Given the description of an element on the screen output the (x, y) to click on. 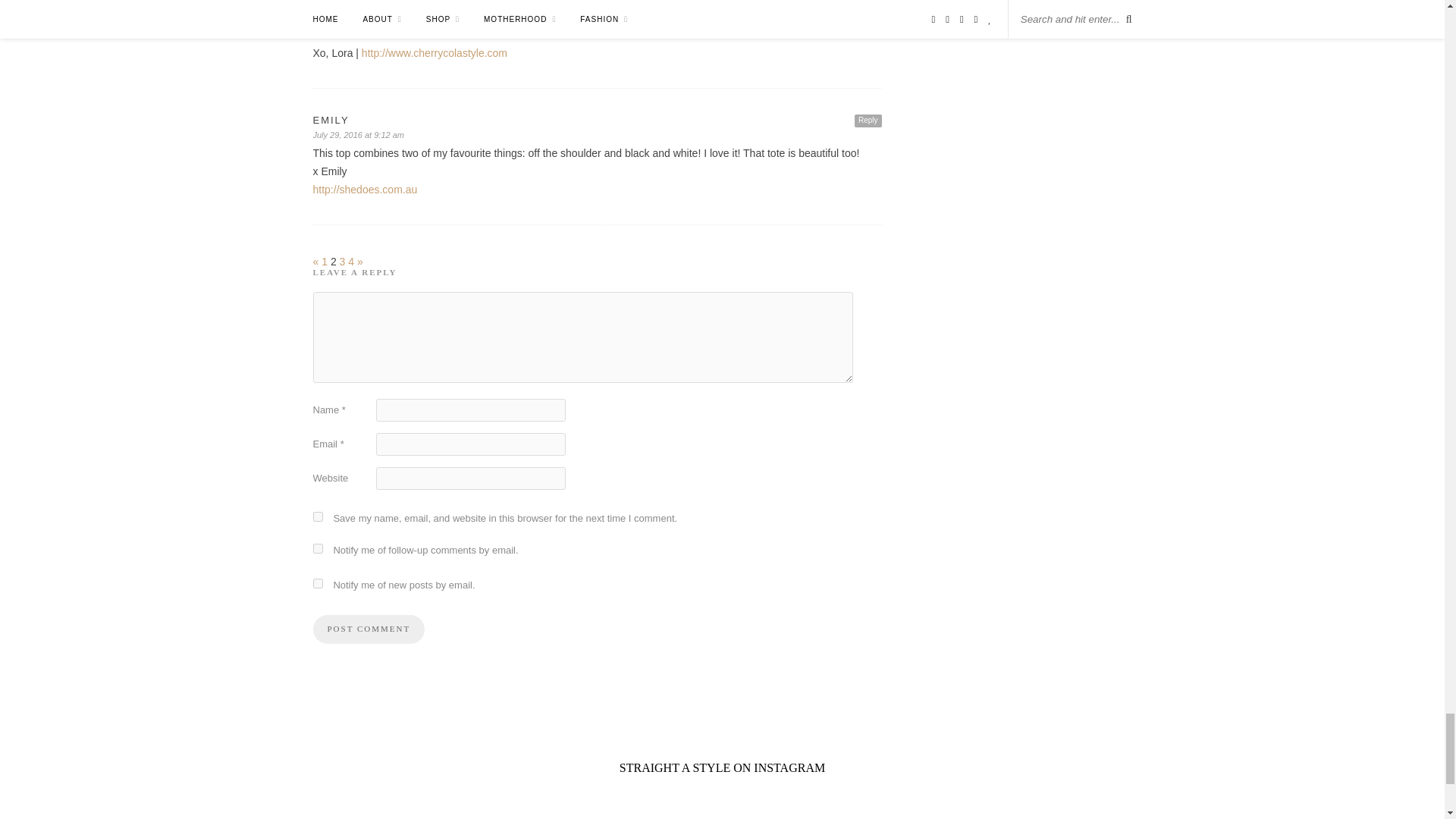
yes (317, 516)
subscribe (317, 548)
subscribe (317, 583)
Post Comment (369, 629)
